Given the description of an element on the screen output the (x, y) to click on. 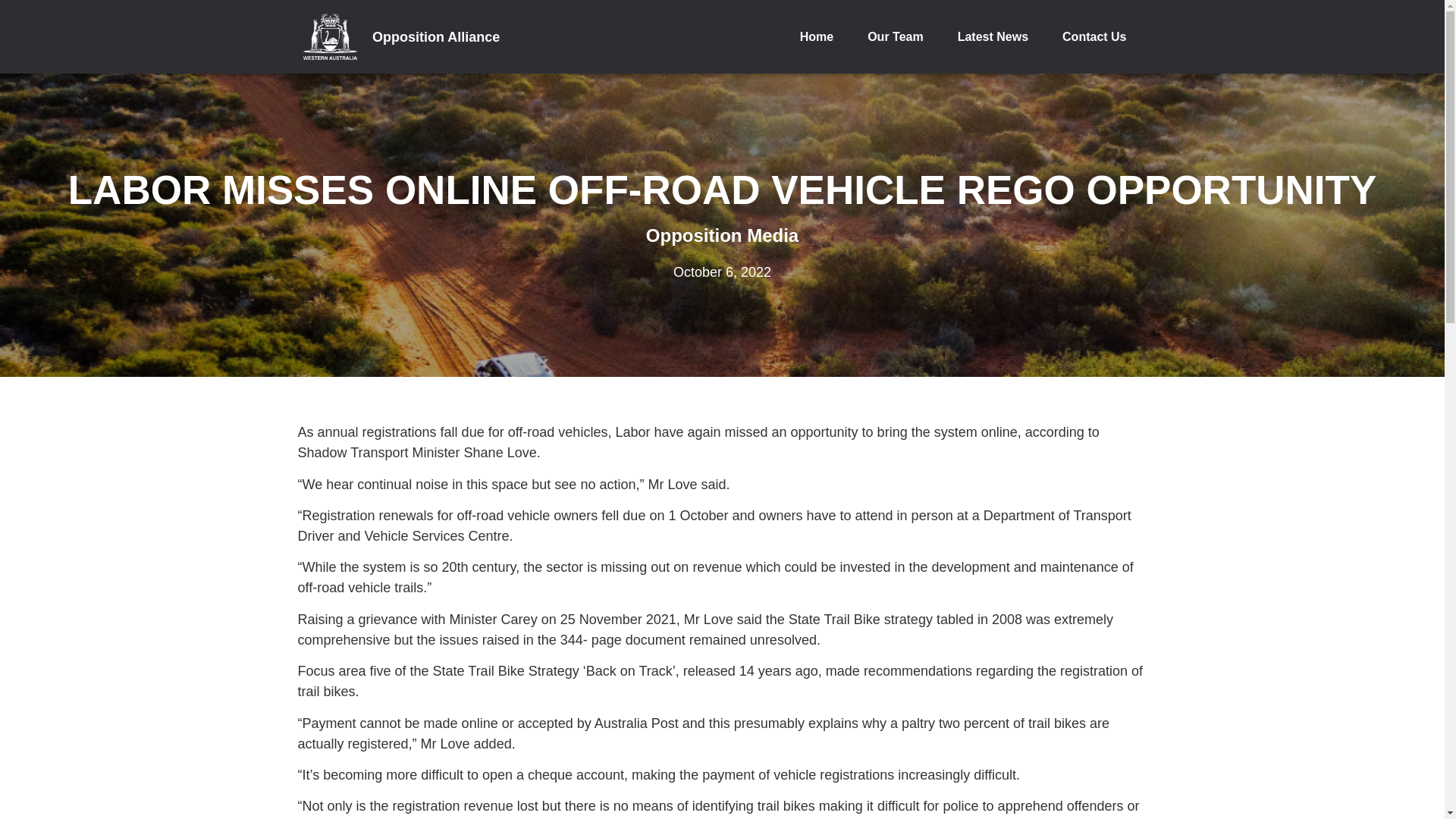
Home (816, 36)
October 6, 2022 (721, 272)
Contact Us (1093, 36)
Latest News (992, 36)
Opposition Alliance (435, 37)
Our Team (895, 36)
